Given the description of an element on the screen output the (x, y) to click on. 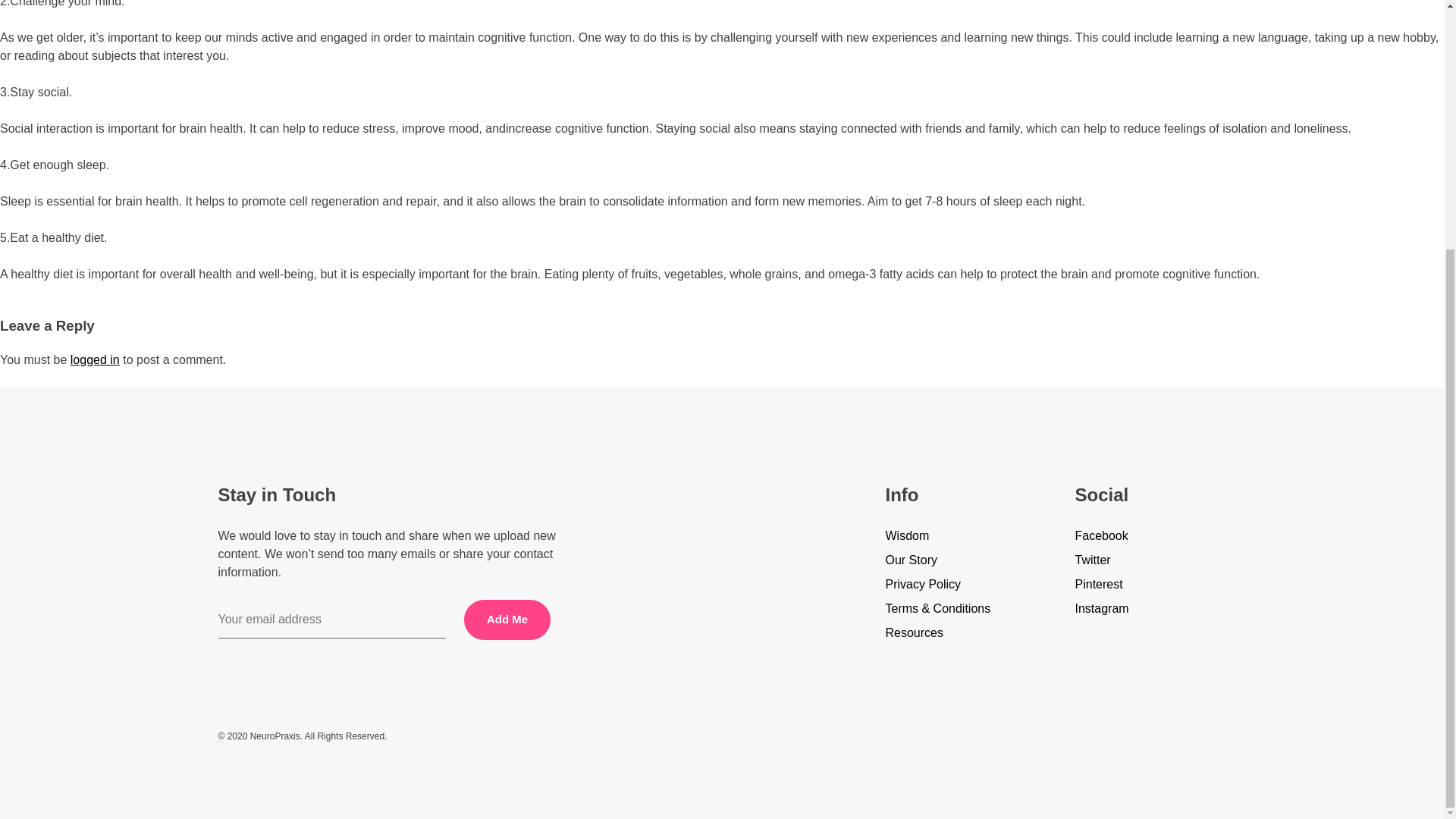
Add Me (507, 619)
Twitter (1151, 560)
Pinterest (1151, 584)
Add Me (507, 619)
logged in (94, 359)
Our Story (960, 560)
Facebook (1151, 536)
Instagram (1151, 608)
Privacy Policy (960, 584)
Resources (960, 633)
